Given the description of an element on the screen output the (x, y) to click on. 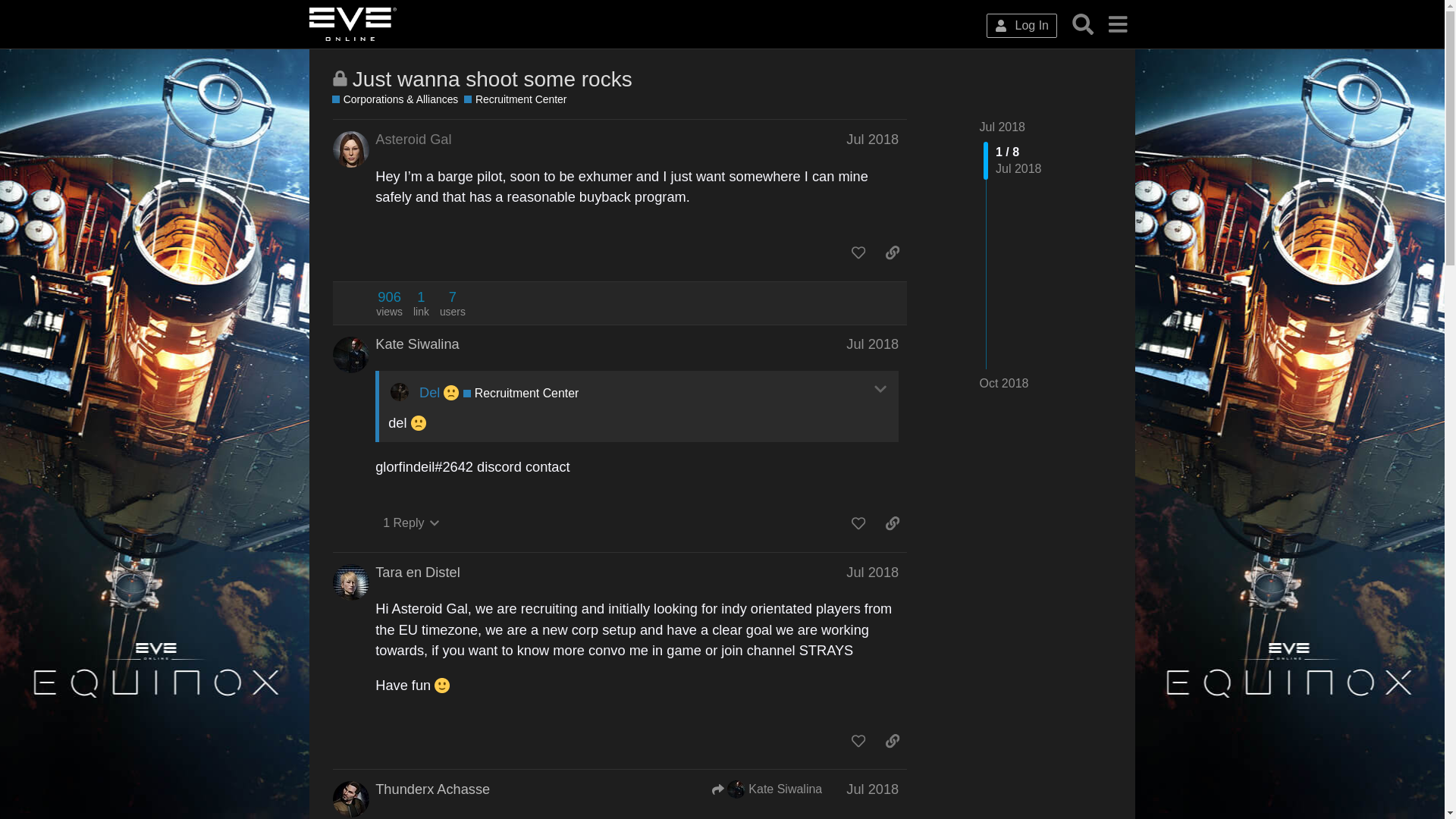
This topic is closed; it no longer accepts new replies (339, 78)
Kate Siwalina (416, 343)
Thunderx Achasse (432, 789)
Jul 2018 (871, 344)
Post date (871, 344)
Search (1082, 23)
Jul 14, 2018 5:52 pm (871, 343)
Recruitment Center (520, 393)
Asteroid Gal (413, 139)
